Given the description of an element on the screen output the (x, y) to click on. 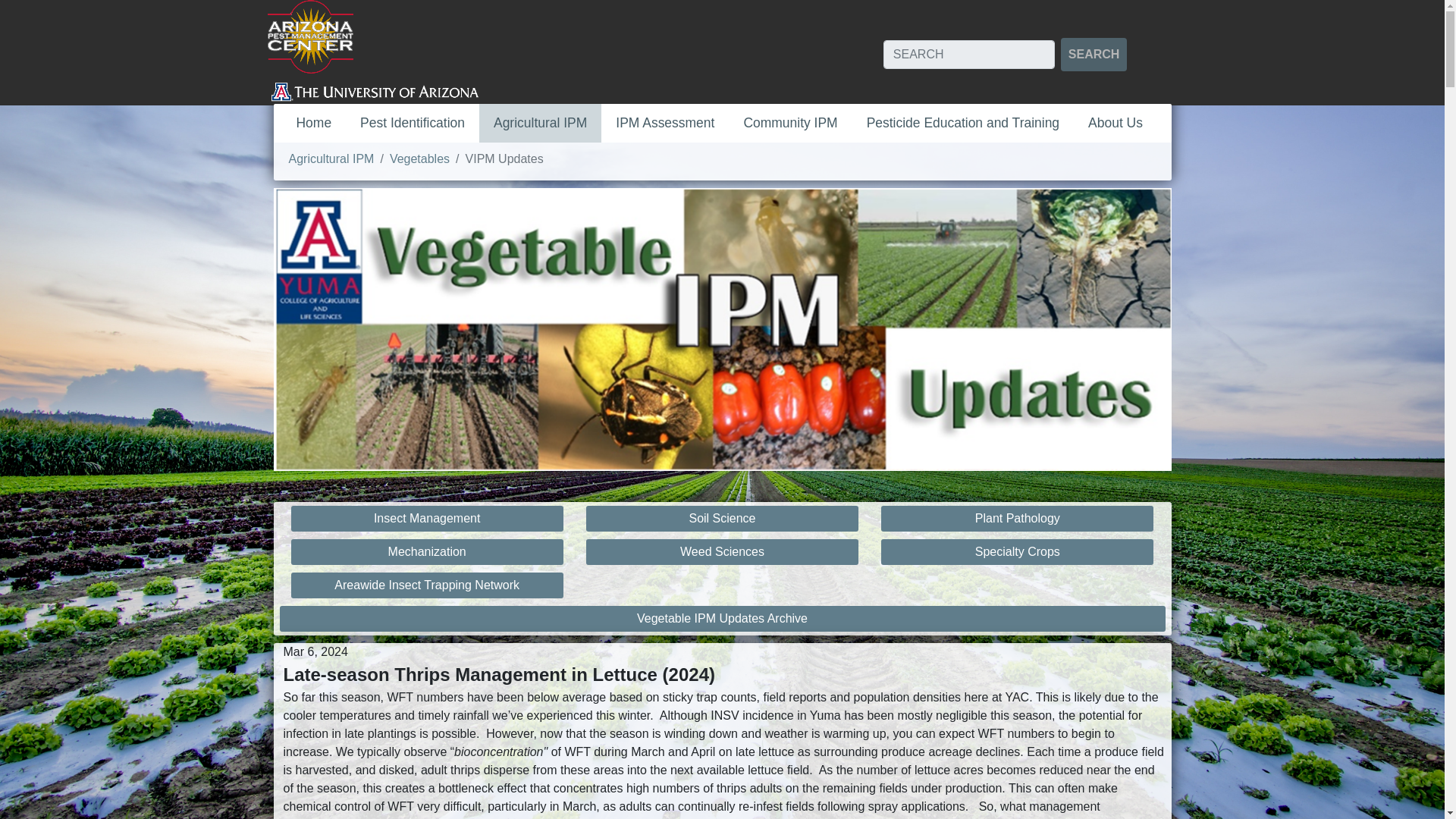
Search input (968, 54)
SEARCH (1093, 54)
